Given the description of an element on the screen output the (x, y) to click on. 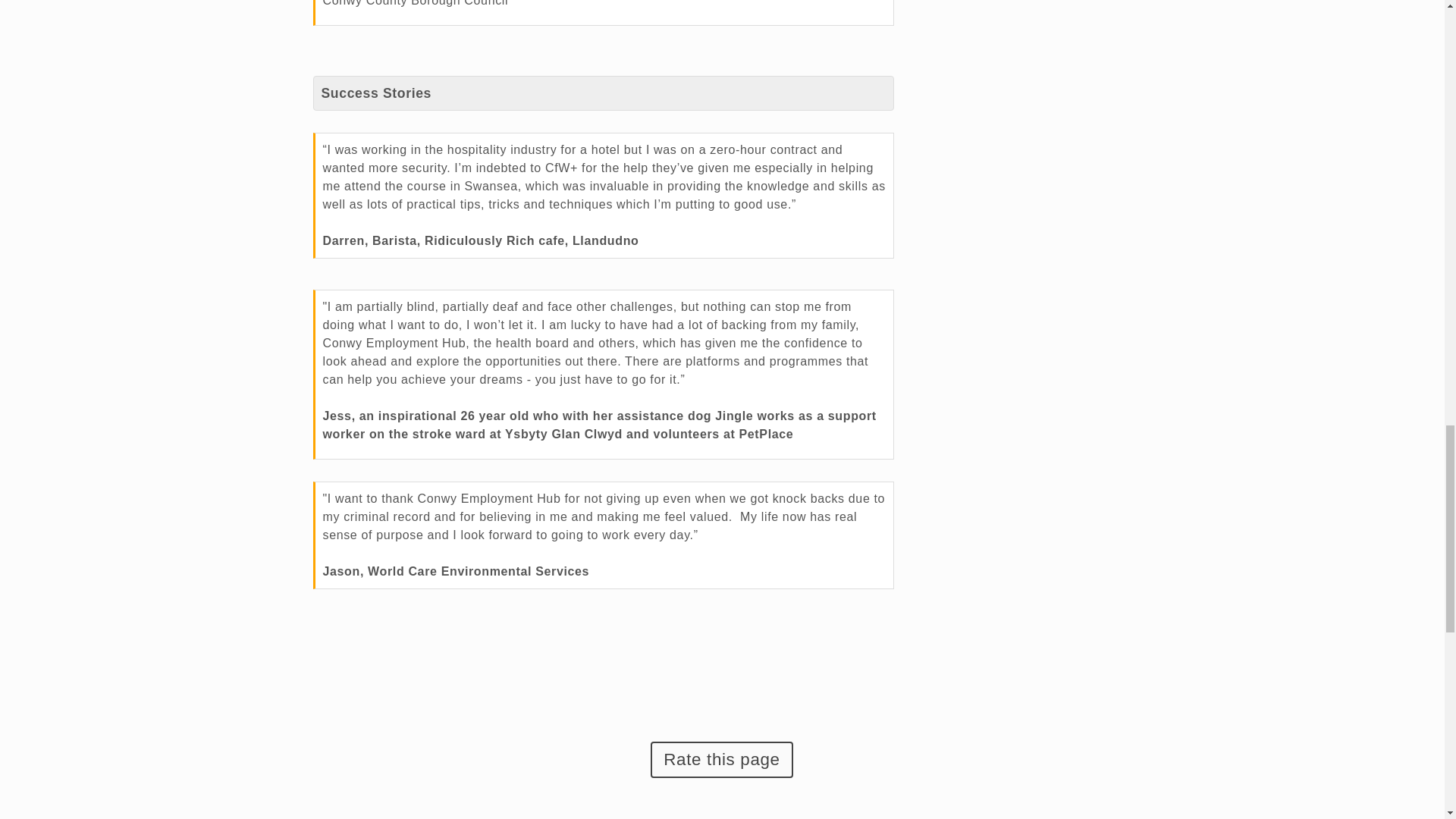
Rate this page (721, 760)
